Given the description of an element on the screen output the (x, y) to click on. 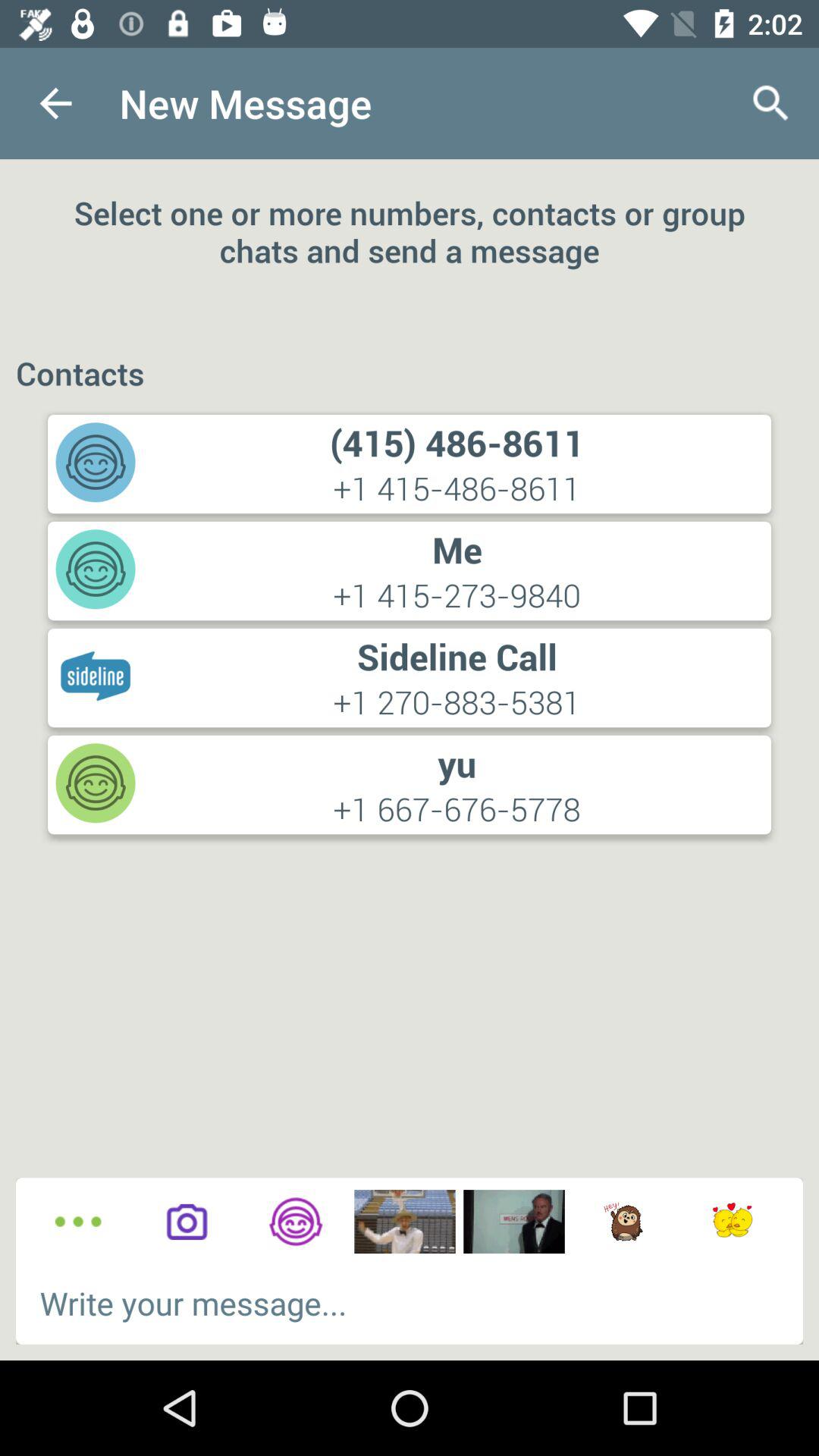
view more options to attach to your message (77, 1221)
